Given the description of an element on the screen output the (x, y) to click on. 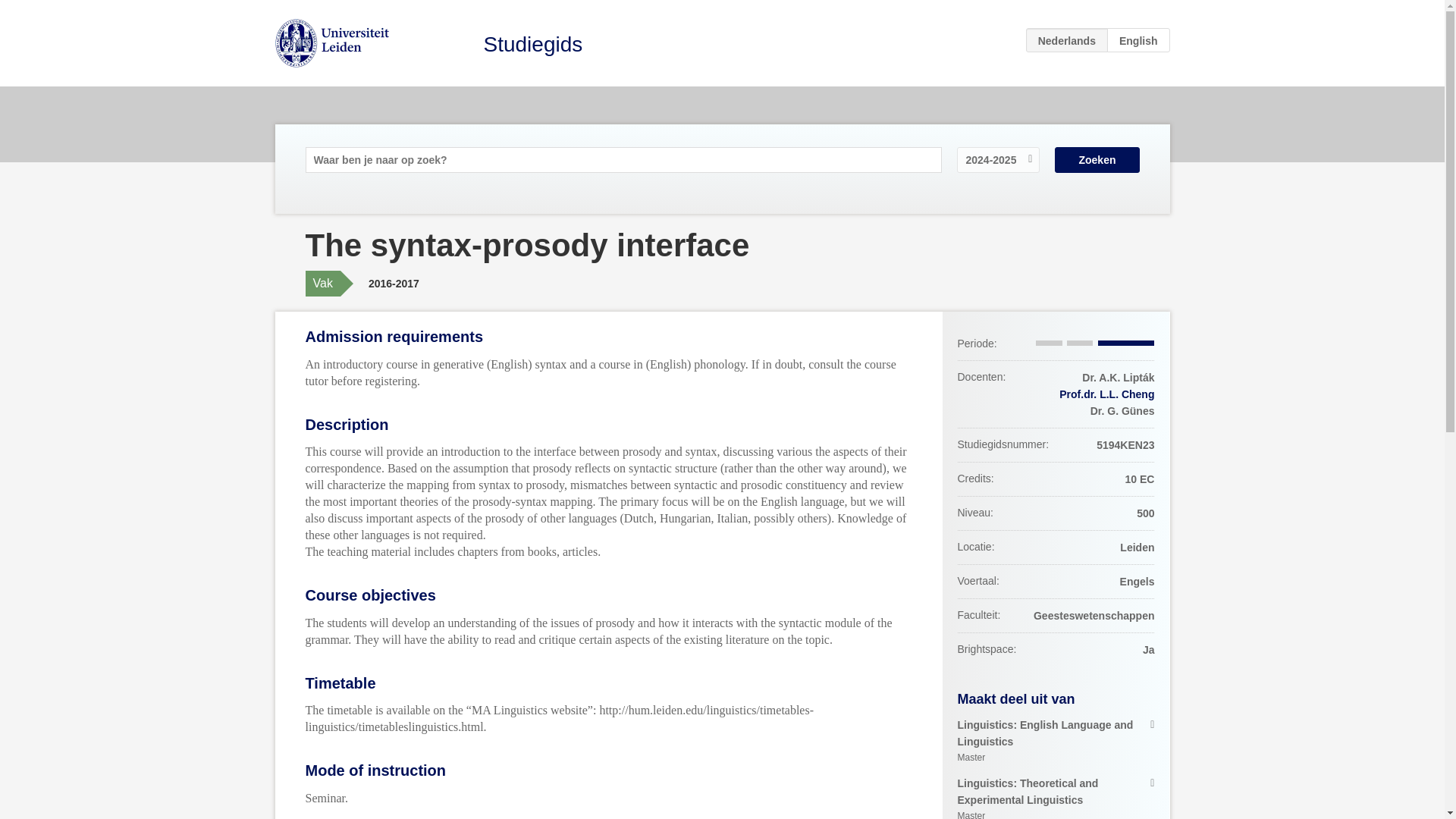
Prof.dr. L.L. Cheng (1106, 394)
Studiegids (1055, 741)
Zoeken (533, 44)
EN (1096, 159)
